Given the description of an element on the screen output the (x, y) to click on. 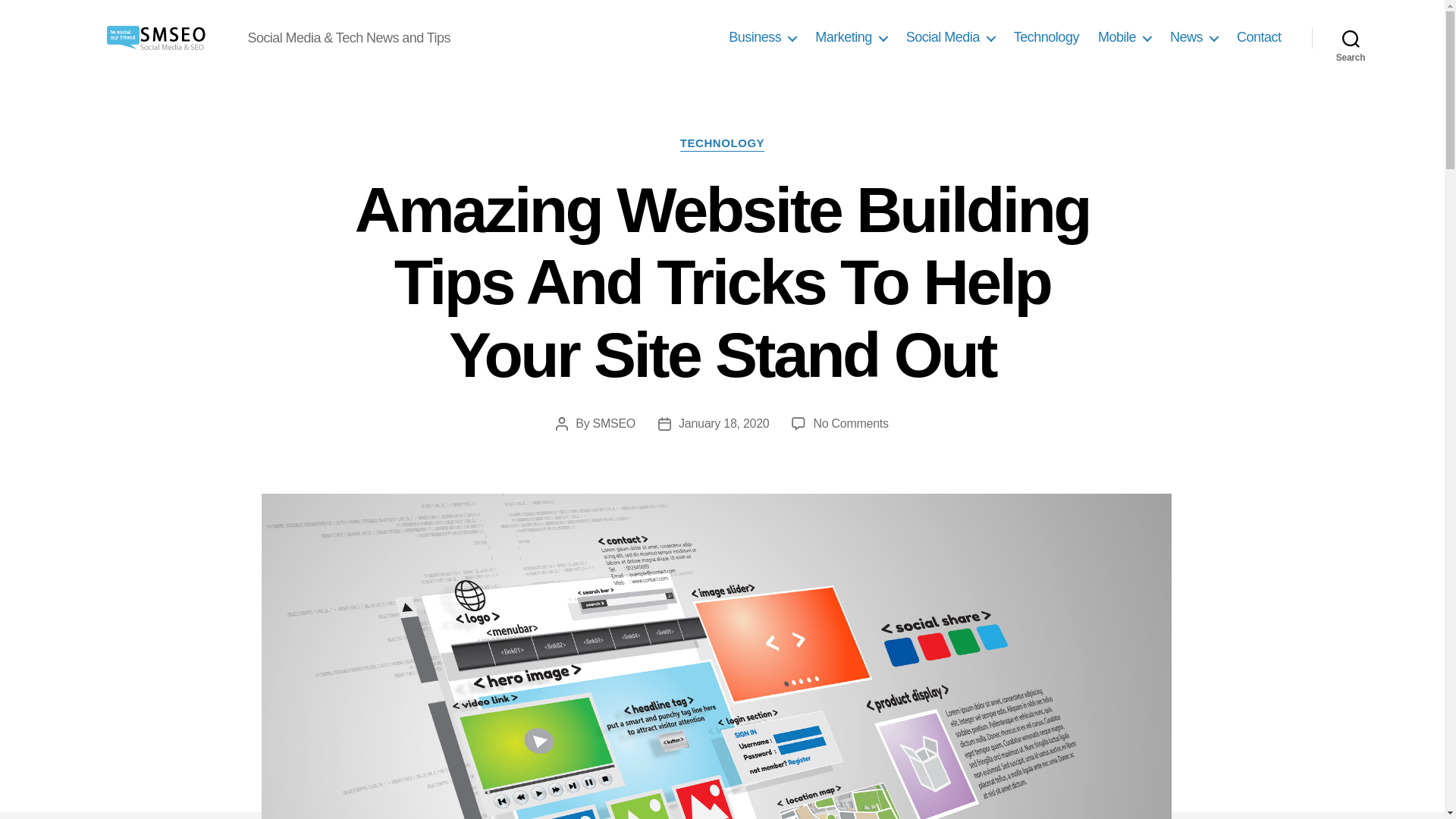
Contact (1258, 37)
Marketing (850, 37)
Business (762, 37)
Mobile (1124, 37)
Technology (1045, 37)
News (1193, 37)
Search (1350, 37)
Social Media (949, 37)
